Given the description of an element on the screen output the (x, y) to click on. 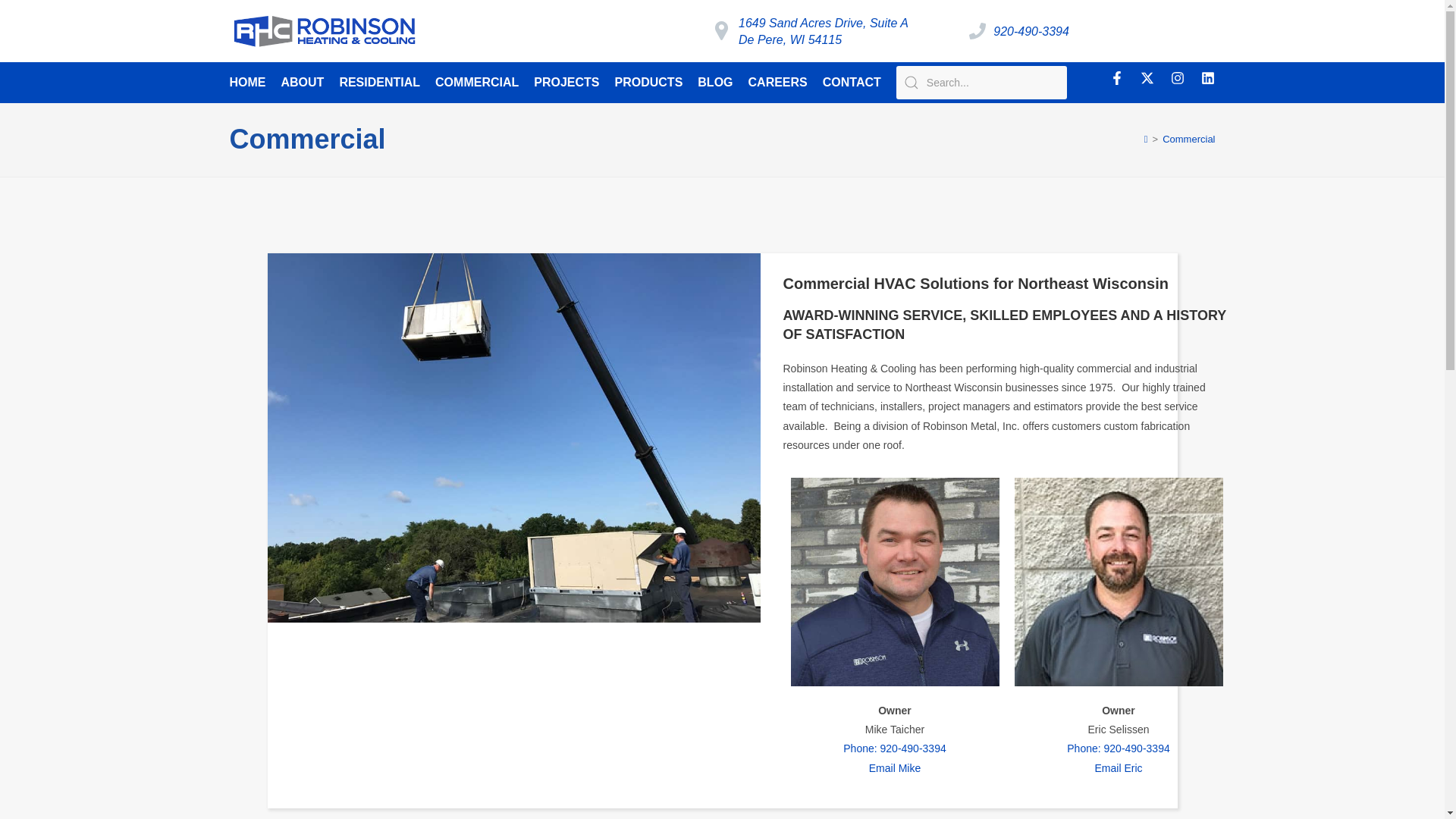
HOME (247, 82)
PRODUCTS (648, 82)
ABOUT (302, 82)
CAREERS (778, 82)
COMMERCIAL (476, 82)
PROJECTS (566, 82)
920-490-3394 (1030, 31)
RESIDENTIAL (379, 82)
Residential (379, 82)
CONTACT (851, 82)
